Given the description of an element on the screen output the (x, y) to click on. 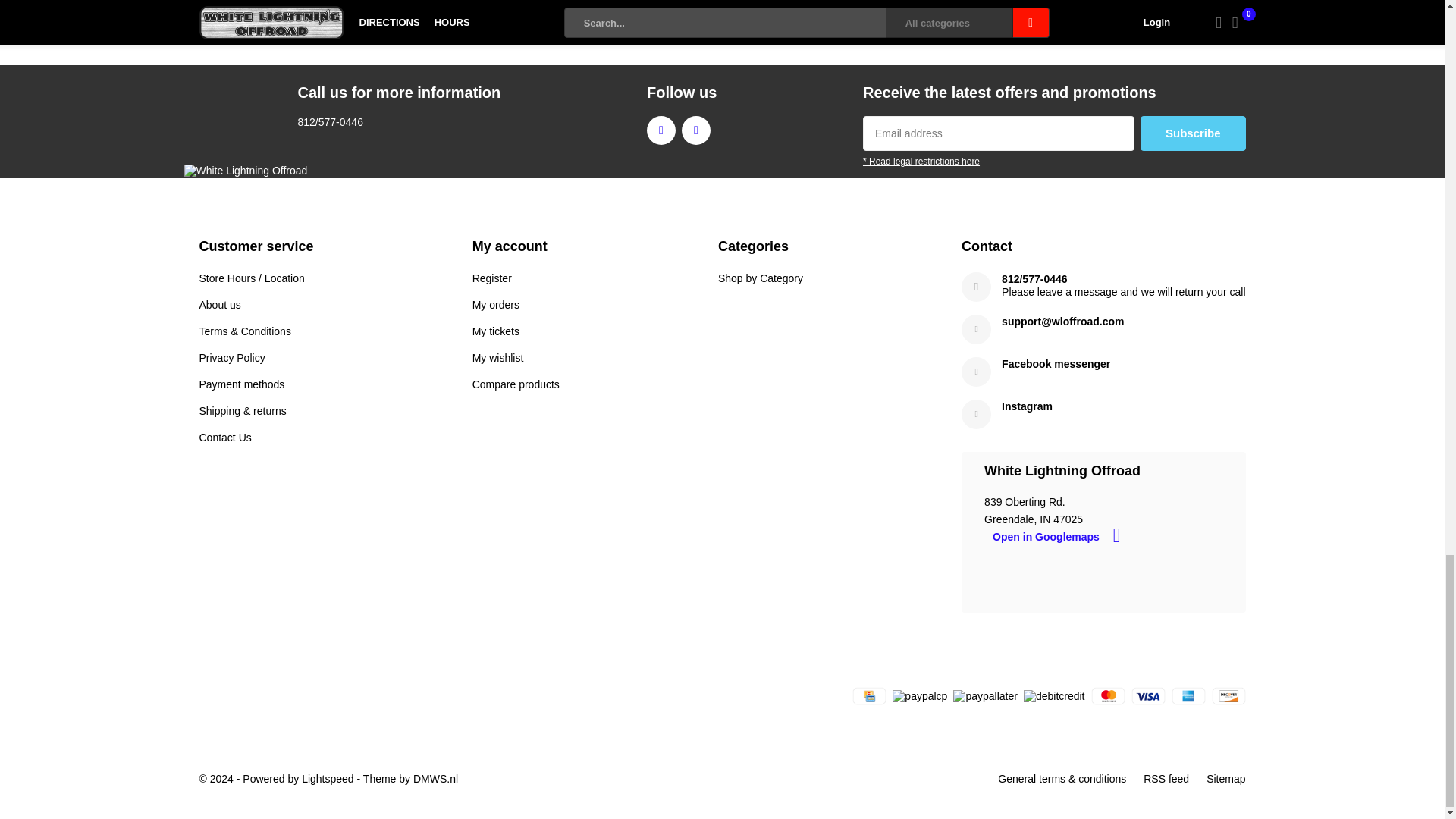
My orders (495, 304)
Payment methods (240, 384)
Privacy Policy (231, 357)
Contact Us (224, 436)
My tickets (495, 331)
Register (491, 277)
My wishlist (497, 357)
Lightspeed (327, 778)
About us (219, 304)
